Given the description of an element on the screen output the (x, y) to click on. 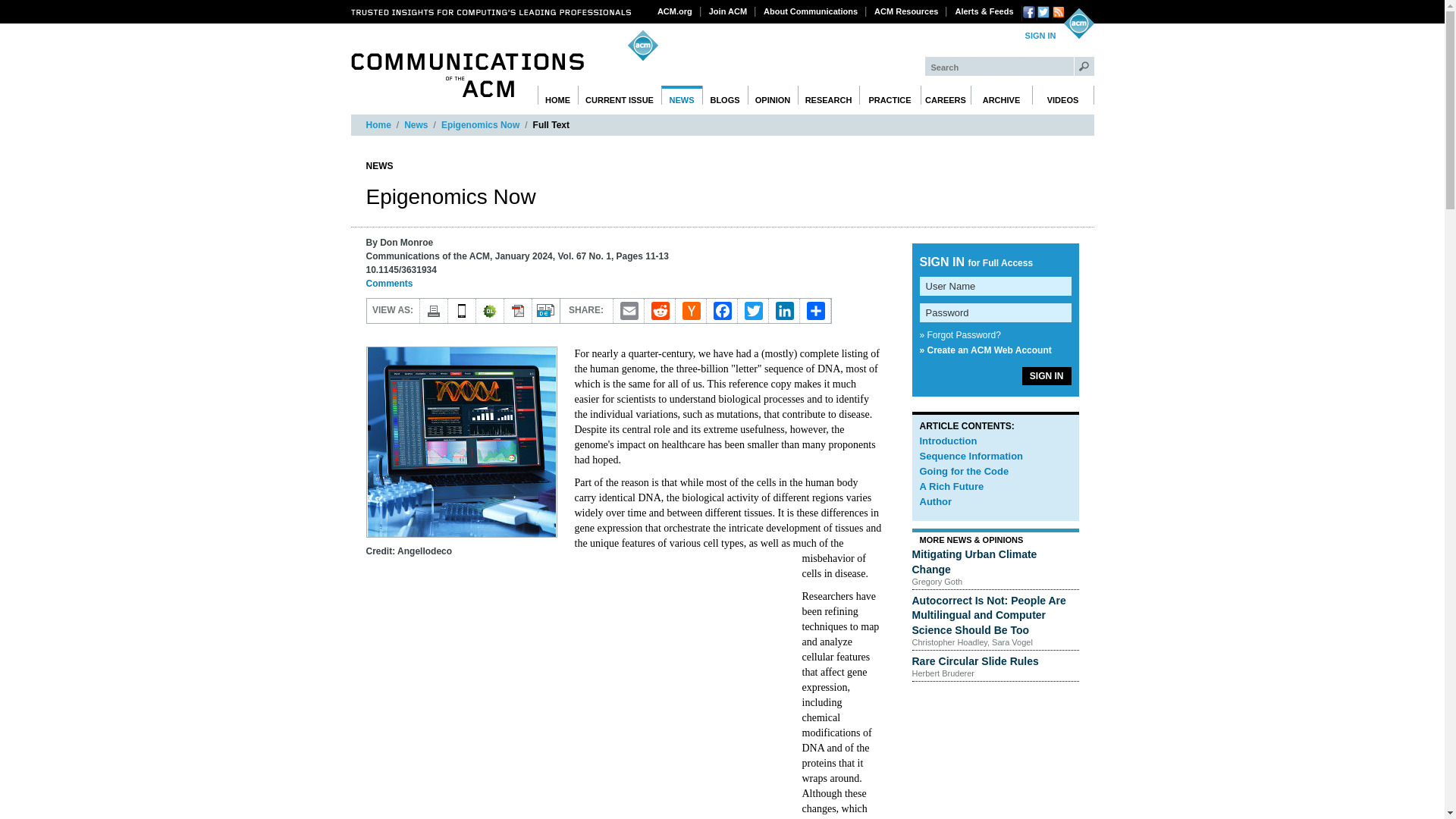
MOBILE APPS (461, 310)
ACM.org (674, 11)
ACM (1077, 23)
ACM.org (674, 11)
Communications of the ACM (466, 75)
OPINION (772, 94)
Go (1084, 66)
ACM (1077, 23)
View in ACM Digital Library (489, 310)
About Communications (810, 11)
Join ACM (727, 11)
YouTube video player (577, 696)
CAREERS (945, 94)
Login (1041, 35)
RESEARCH (828, 94)
